Given the description of an element on the screen output the (x, y) to click on. 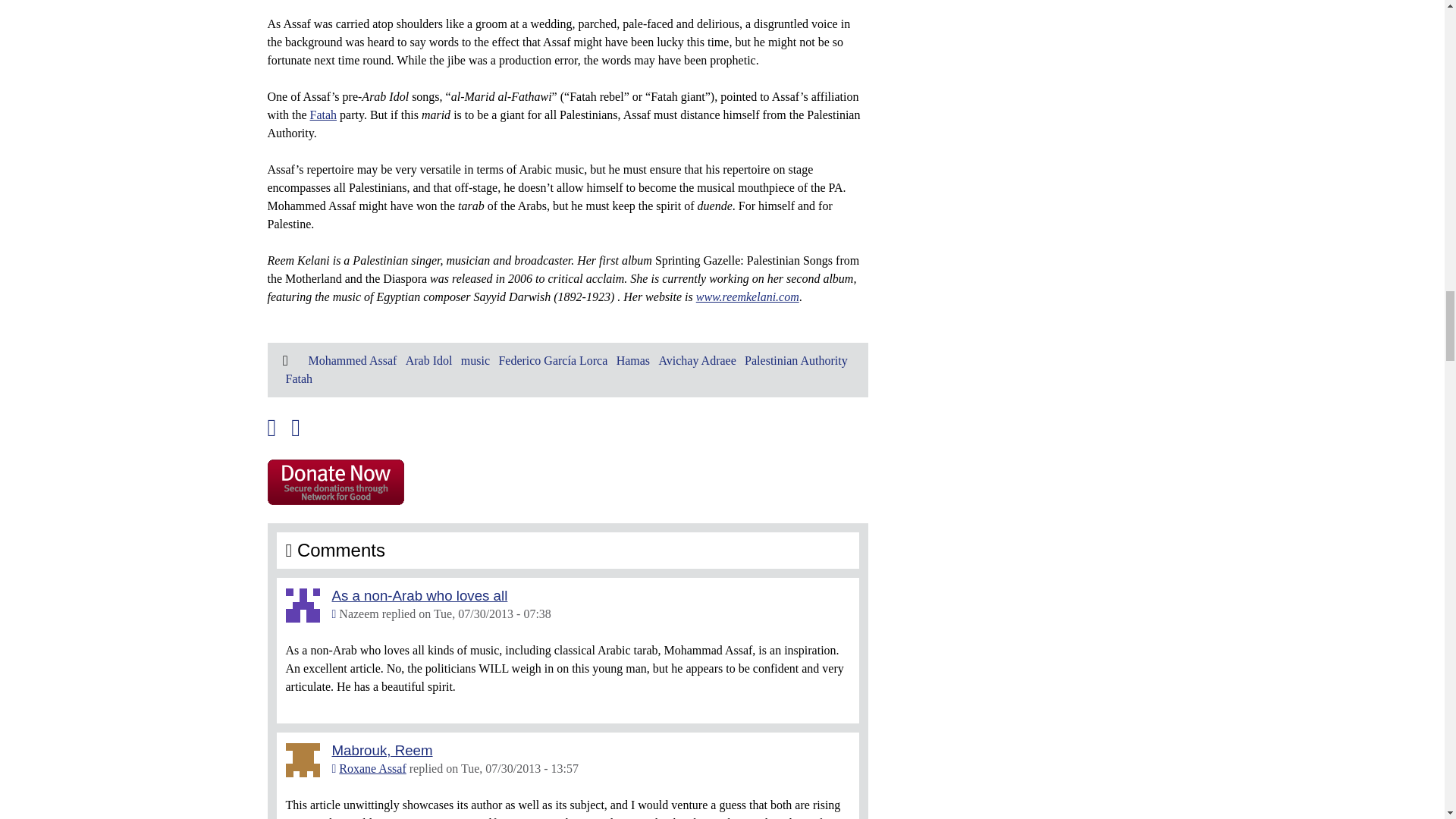
www.reemkelani.com (747, 296)
Arab Idol (429, 359)
Hamas (632, 359)
music (475, 359)
Fatah (322, 114)
Avichay Adraee (696, 359)
Mohammed Assaf (351, 359)
